Given the description of an element on the screen output the (x, y) to click on. 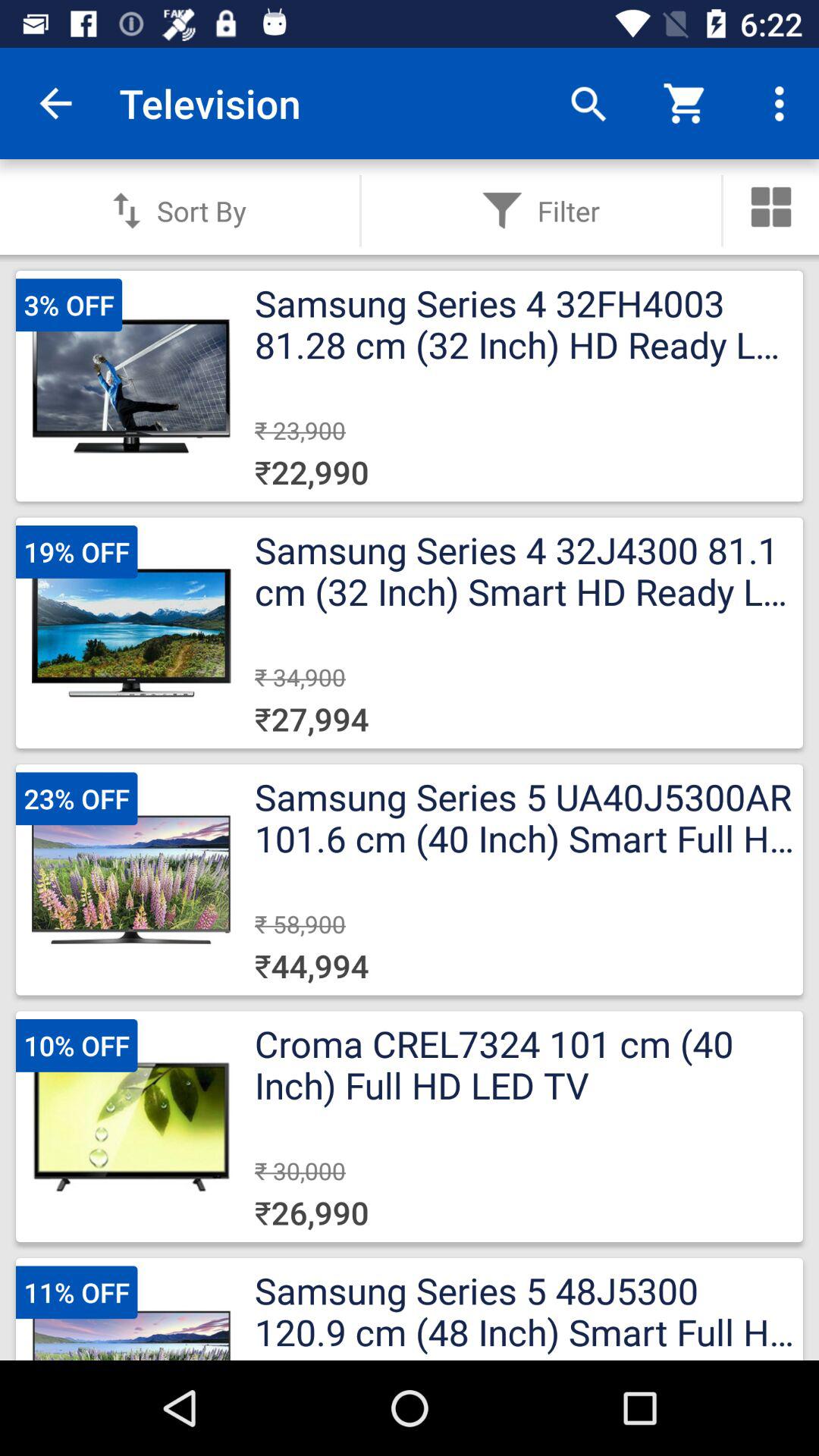
more tools\ (771, 206)
